Given the description of an element on the screen output the (x, y) to click on. 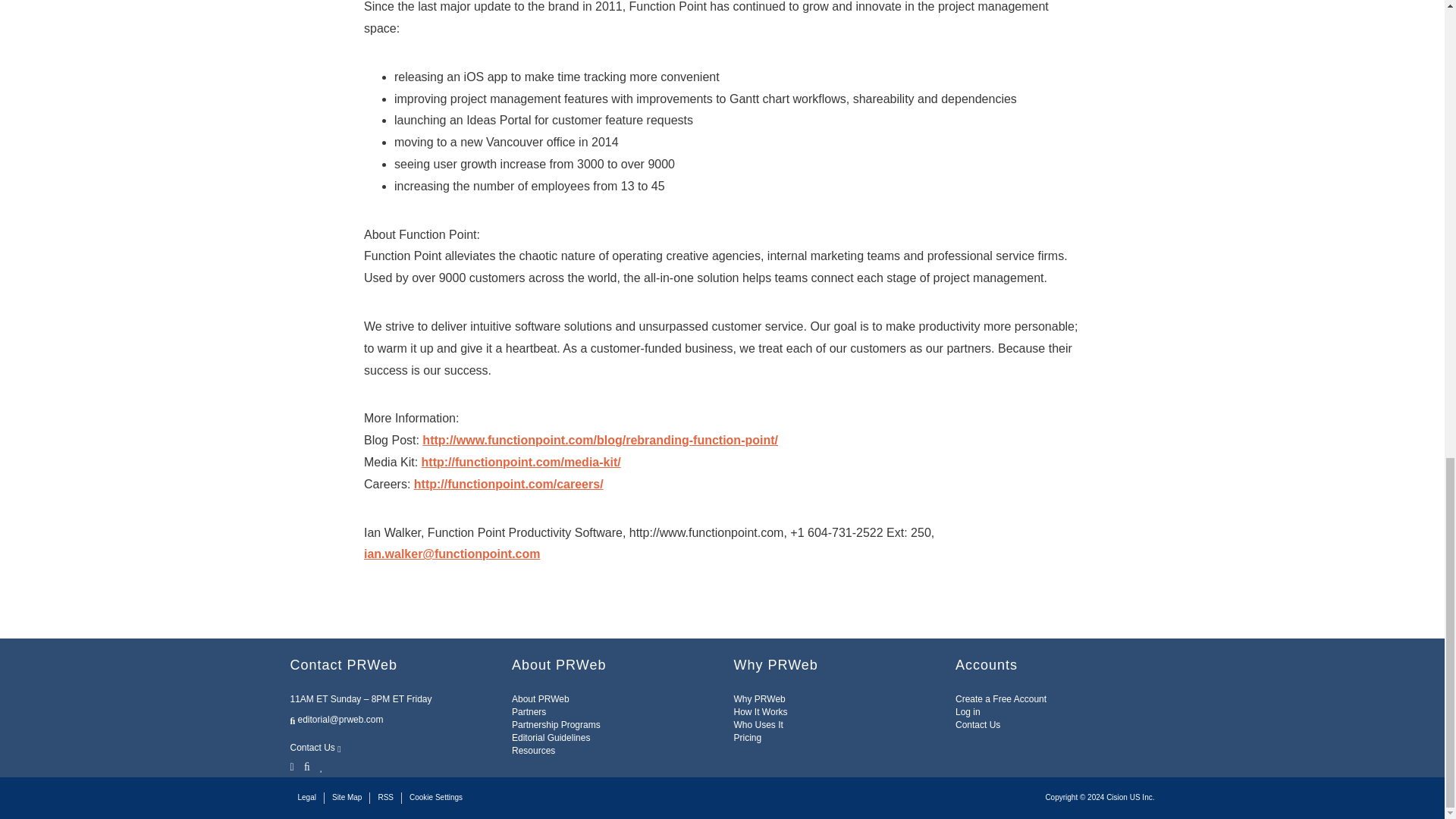
LinkedIn (321, 765)
Partners (529, 711)
About PRWeb (540, 698)
Why PRWeb (759, 698)
Partnership Programs (555, 724)
Facebook (306, 765)
Resources (533, 750)
Twitter (293, 765)
Editorial Guidelines (550, 737)
